Given the description of an element on the screen output the (x, y) to click on. 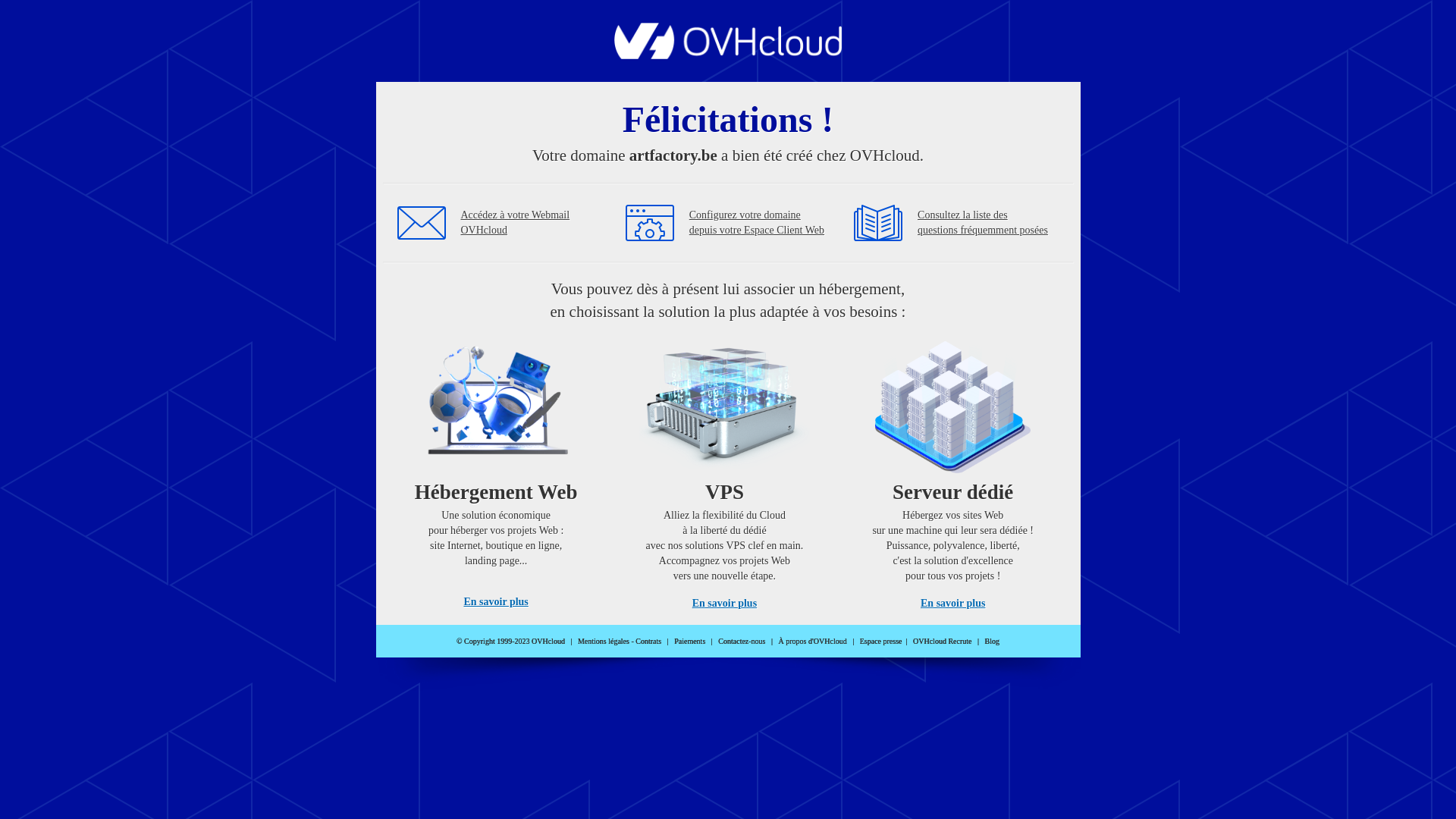
VPS Element type: hover (724, 469)
OVHcloud Element type: hover (727, 54)
Paiements Element type: text (689, 641)
OVHcloud Recrute Element type: text (942, 641)
En savoir plus Element type: text (495, 601)
Contactez-nous Element type: text (741, 641)
En savoir plus Element type: text (724, 602)
Espace presse Element type: text (880, 641)
Configurez votre domaine
depuis votre Espace Client Web Element type: text (756, 222)
En savoir plus Element type: text (952, 602)
Blog Element type: text (992, 641)
